Given the description of an element on the screen output the (x, y) to click on. 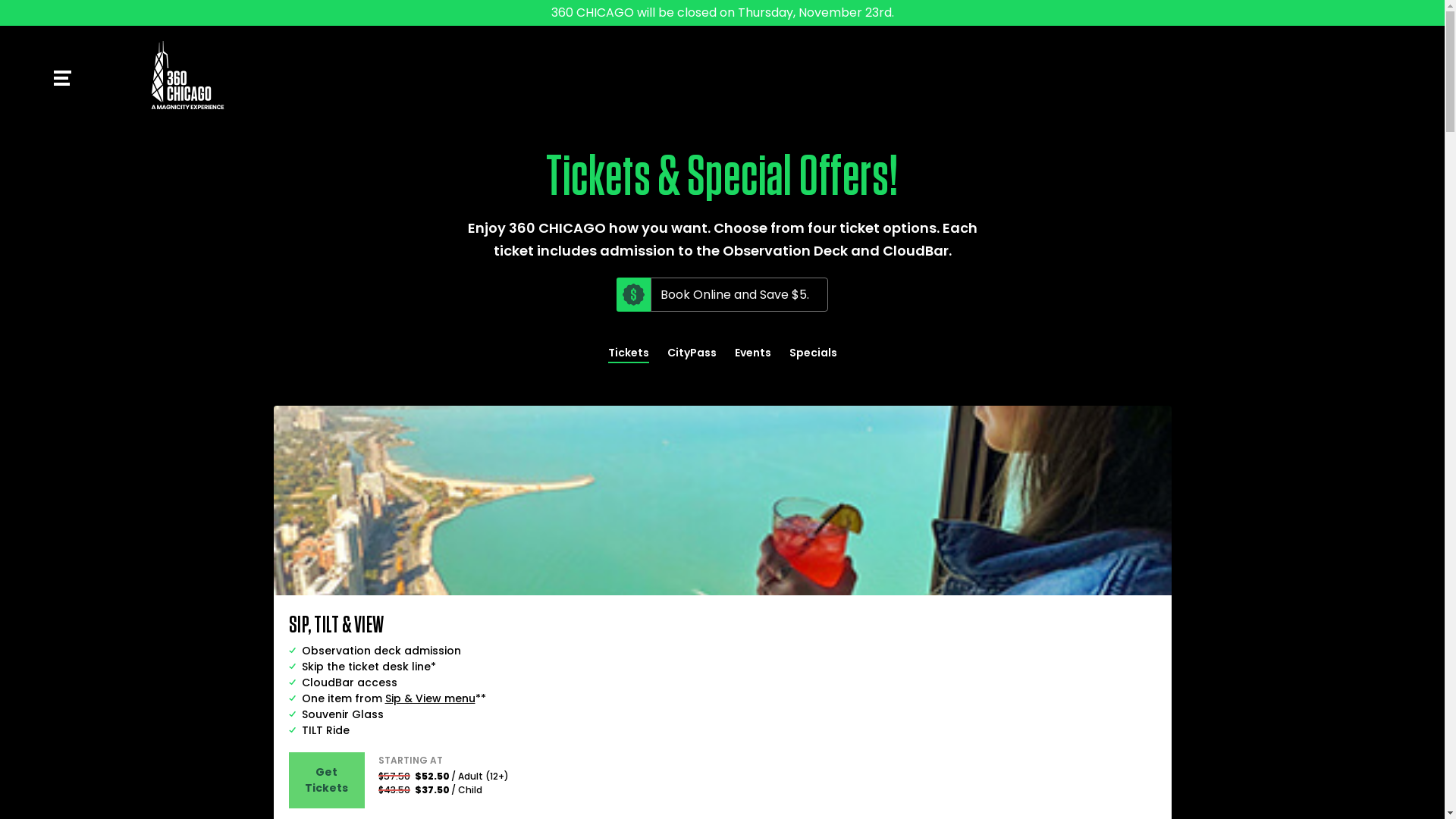
Sip & View menu Element type: text (430, 698)
Events Element type: text (752, 352)
Specials Element type: text (812, 352)
Tickets Element type: text (628, 354)
Get Tickets Element type: text (326, 780)
CityPass Element type: text (691, 352)
